Given the description of an element on the screen output the (x, y) to click on. 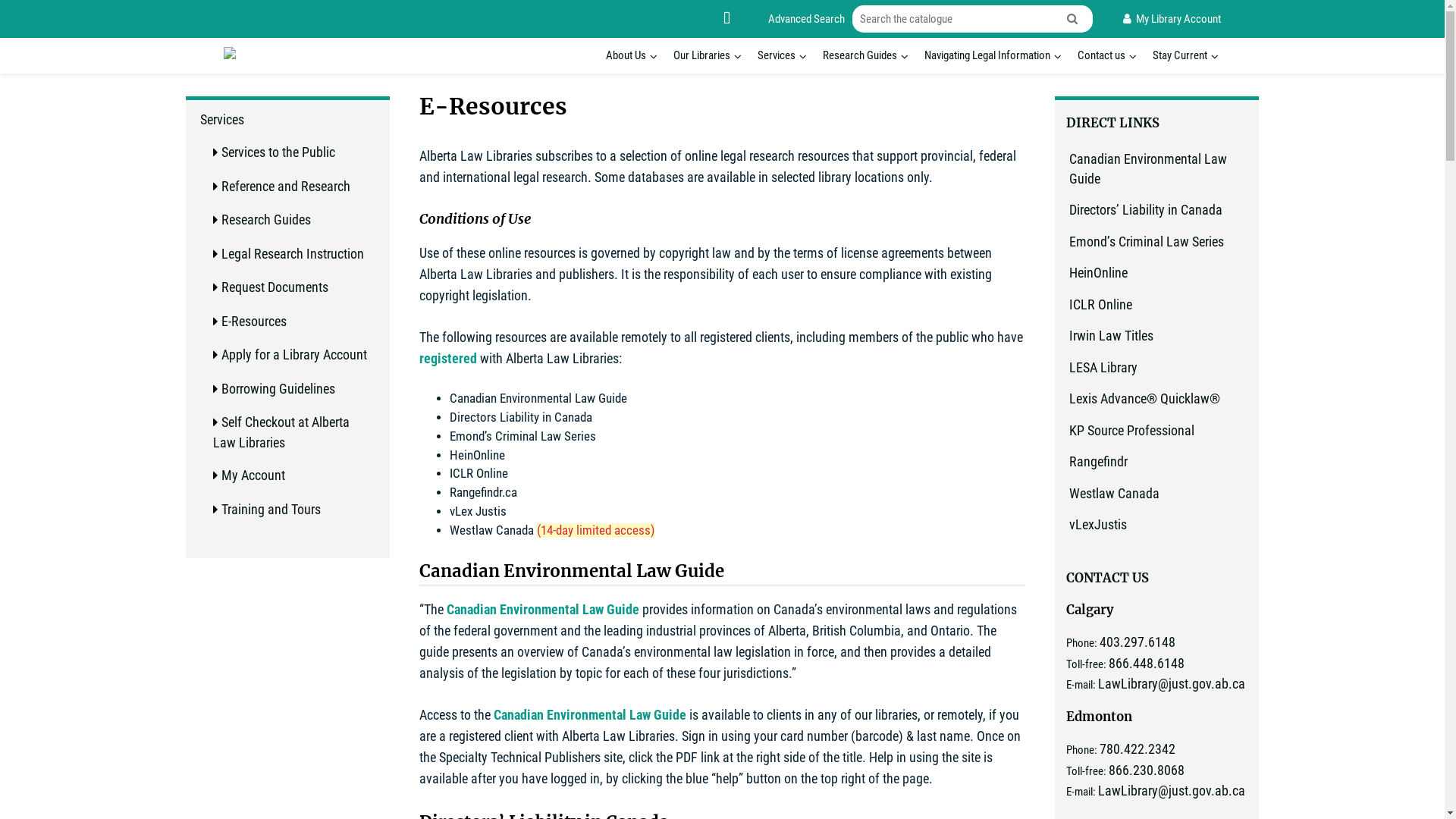
Legal Research Instruction Element type: text (292, 254)
Self Checkout at Alberta Law Libraries Element type: text (281, 432)
HeinOnline Element type: text (1098, 273)
My Library Account Element type: text (1171, 19)
Advanced Search Element type: text (806, 19)
LESA Library Element type: text (1103, 367)
Westlaw Canada Element type: text (1114, 493)
E-Resources Element type: text (253, 320)
Apply for a Library Account Element type: text (294, 355)
780.422.2342 Element type: text (1137, 749)
866.230.8068 Element type: text (1146, 770)
Research Guides Element type: text (265, 220)
Follow @ABLawLibraries on x-twitter Element type: text (726, 17)
About Us Element type: text (625, 55)
ICLR Online Element type: text (1100, 304)
403.297.6148 Element type: text (1137, 642)
Services Element type: text (222, 119)
vLexJustis Element type: text (1097, 524)
Canadian Environmental Law Guide Element type: text (589, 715)
866.448.6148 Element type: text (1146, 663)
Research Guides Element type: text (859, 55)
Borrowing Guidelines Element type: text (278, 389)
Our Libraries Element type: text (701, 55)
registered Element type: text (447, 359)
Irwin Law Titles Element type: text (1111, 336)
LawLibrary@just.gov.ab.ca Element type: text (1171, 791)
KP Source Professional Element type: text (1131, 430)
Canadian Environmental Law Guide Element type: text (542, 610)
Request Documents Element type: text (274, 287)
Contact us Element type: text (1101, 55)
LawLibrary@just.gov.ab.ca Element type: text (1171, 684)
Reference and Research Element type: text (285, 185)
Stay Current Element type: text (1179, 55)
My Account Element type: text (253, 475)
Services to the Public Element type: text (278, 152)
Canadian Environmental Law Guide Element type: text (1147, 169)
Navigating Legal Information Element type: text (986, 55)
Rangefindr Element type: text (1098, 461)
Services Element type: text (776, 55)
Training and Tours Element type: text (270, 508)
Search Element type: text (1073, 19)
